Given the description of an element on the screen output the (x, y) to click on. 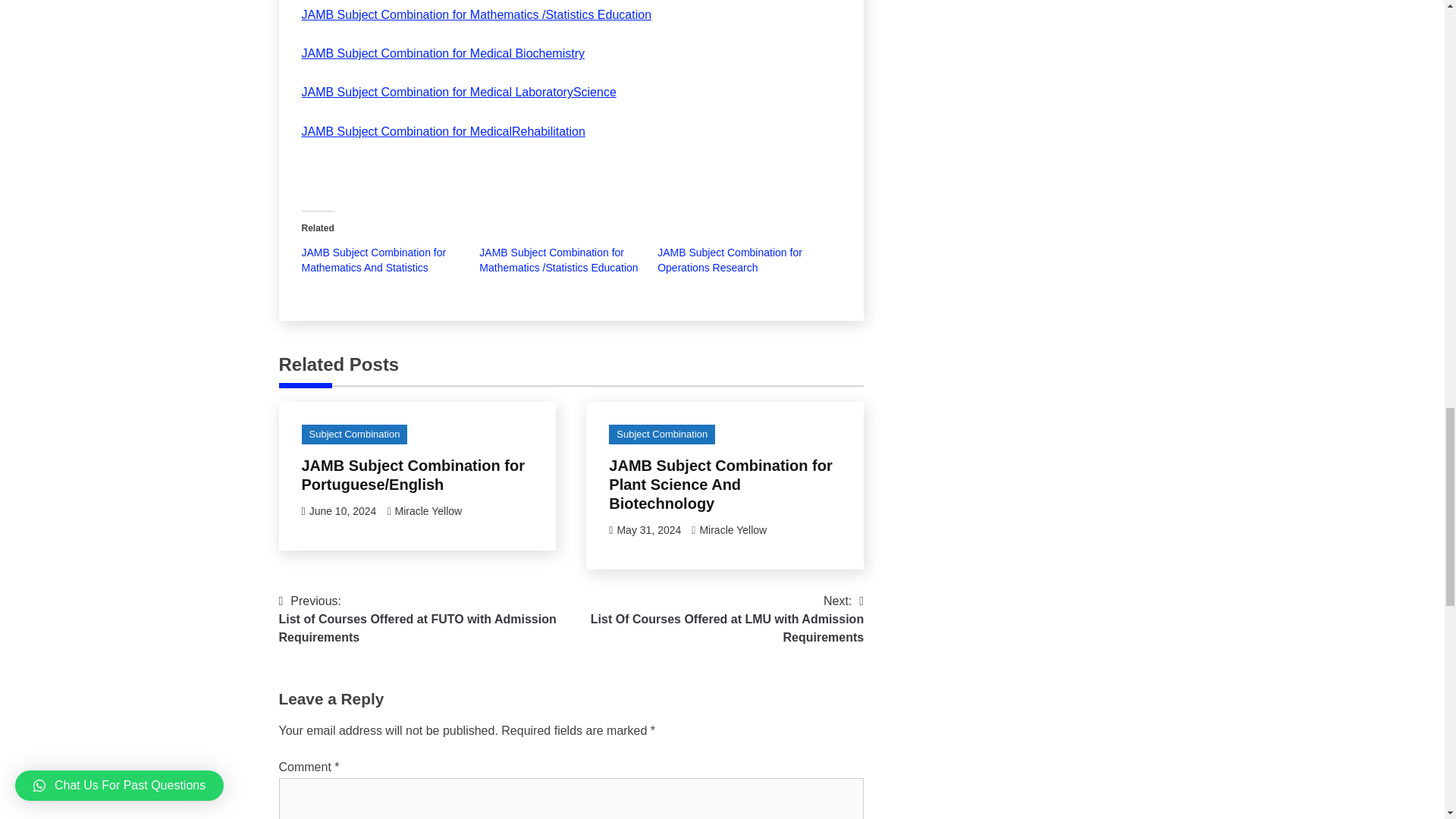
JAMB Subject Combination for Plant Science And Biotechnology (719, 484)
Subject Combination (661, 434)
Subject Combination (354, 434)
JAMB Subject Combination for Medical Biochemistry (443, 52)
JAMB Subject Combination for Mathematics And Statistics (373, 259)
JAMB Subject Combination for Operations Research (730, 259)
JAMB Subject Combination for Medical LaboratoryScience (458, 91)
JAMB Subject Combination for Mathematics And Statistics (373, 259)
June 10, 2024 (342, 510)
JAMB Subject Combination for Operations Research (730, 259)
